Given the description of an element on the screen output the (x, y) to click on. 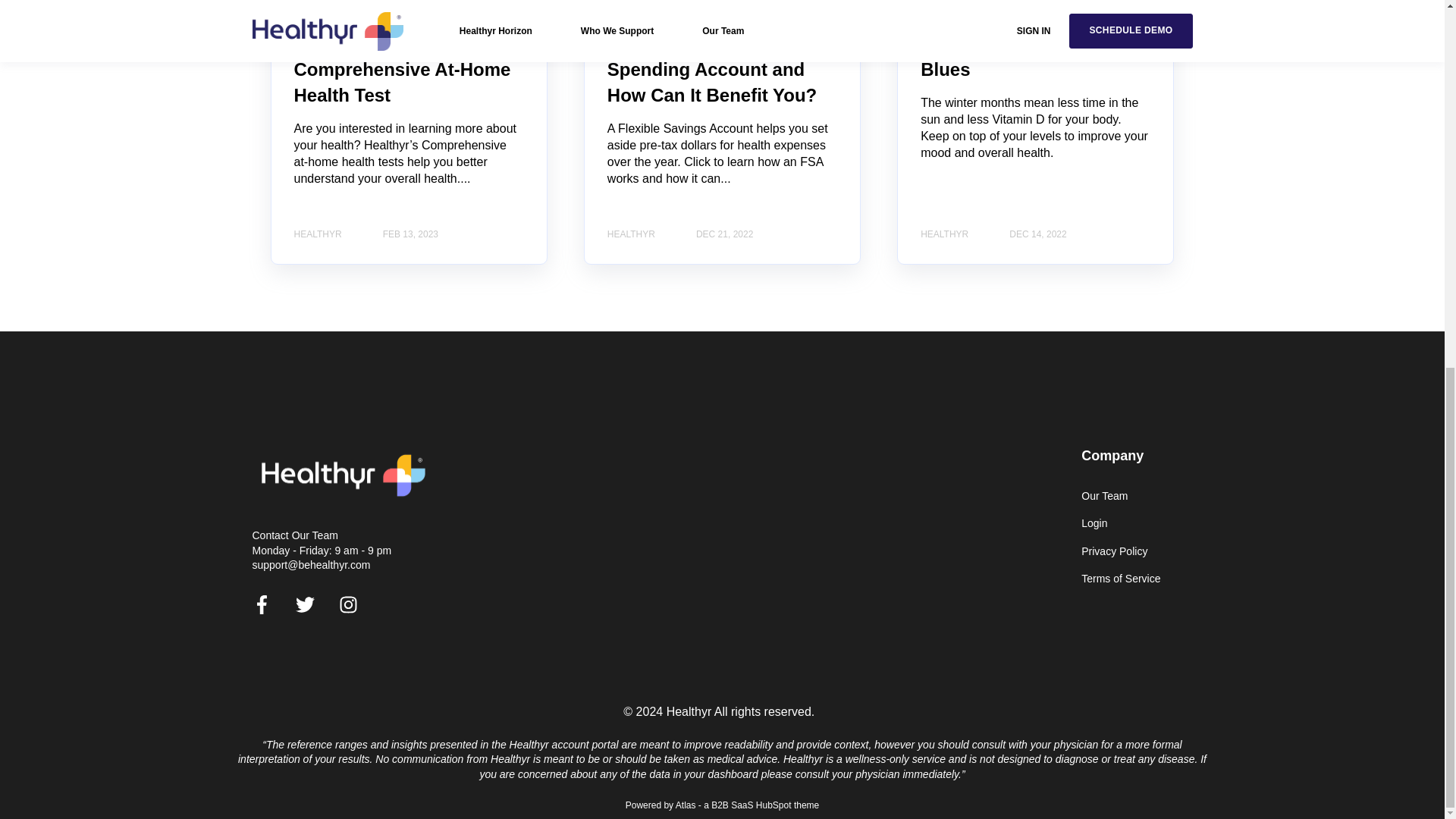
Privacy Policy (1120, 550)
Powered by Atlas - a B2B SaaS HubSpot theme (722, 805)
Vitamin D and the Winter Blues (1027, 57)
The Benefits of Healthyr's Comprehensive At-Home Health Test (406, 69)
Terms of Service (1120, 578)
Login (1120, 522)
Our Team (1120, 495)
